Given the description of an element on the screen output the (x, y) to click on. 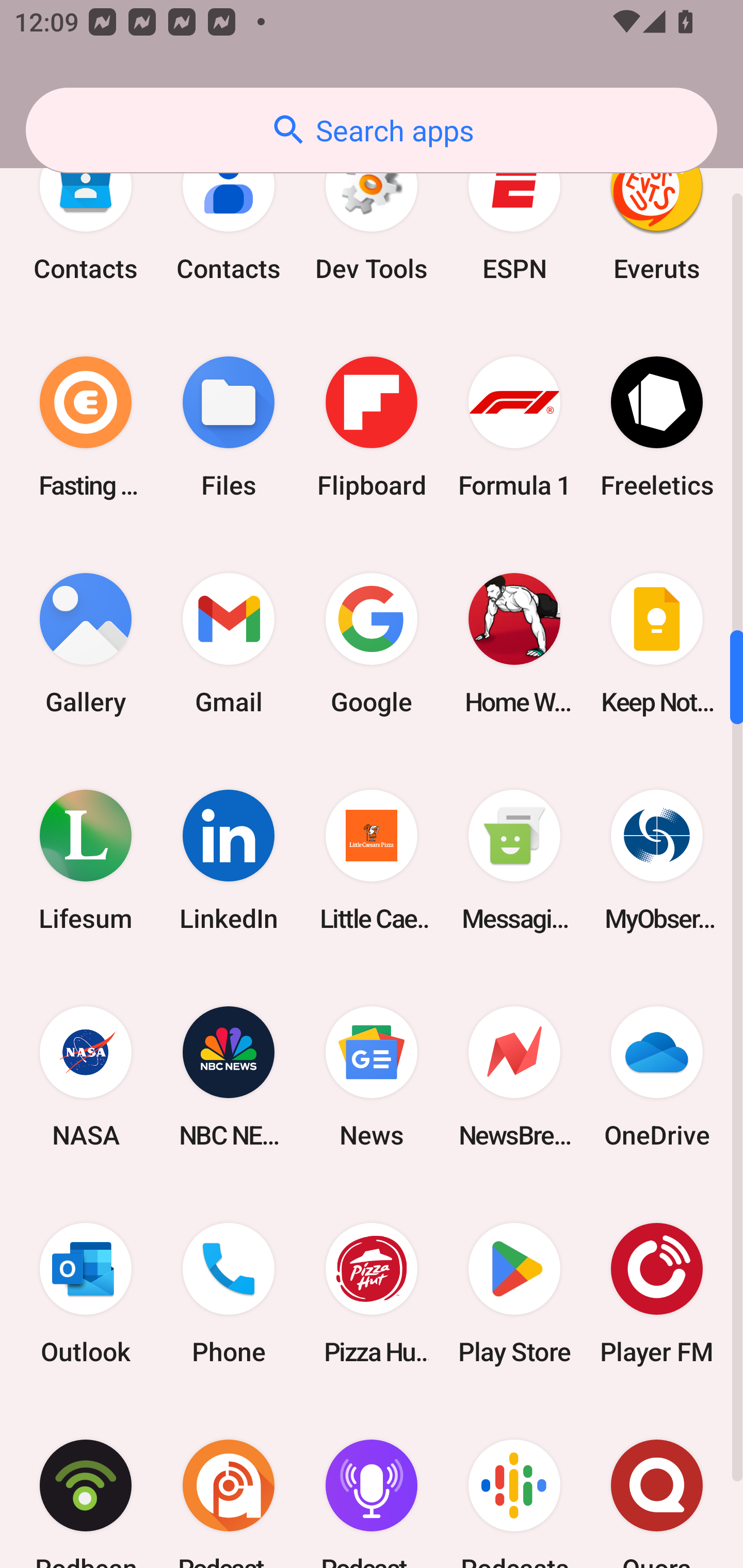
  Search apps (371, 130)
Contacts (85, 210)
Contacts (228, 210)
Dev Tools (371, 210)
ESPN (514, 210)
Everuts (656, 210)
Fasting Coach (85, 426)
Files (228, 426)
Flipboard (371, 426)
Formula 1 (514, 426)
Freeletics (656, 426)
Gallery (85, 643)
Gmail (228, 643)
Google (371, 643)
Home Workout (514, 643)
Keep Notes (656, 643)
Lifesum (85, 860)
LinkedIn (228, 860)
Little Caesars Pizza (371, 860)
Messaging (514, 860)
MyObservatory (656, 860)
NASA (85, 1077)
NBC NEWS (228, 1077)
News (371, 1077)
NewsBreak (514, 1077)
OneDrive (656, 1077)
Outlook (85, 1293)
Phone (228, 1293)
Pizza Hut HK & Macau (371, 1293)
Play Store (514, 1293)
Player FM (656, 1293)
Podbean (85, 1484)
Podcast Addict (228, 1484)
Podcast Player (371, 1484)
Podcasts (514, 1484)
Quora (656, 1484)
